Given the description of an element on the screen output the (x, y) to click on. 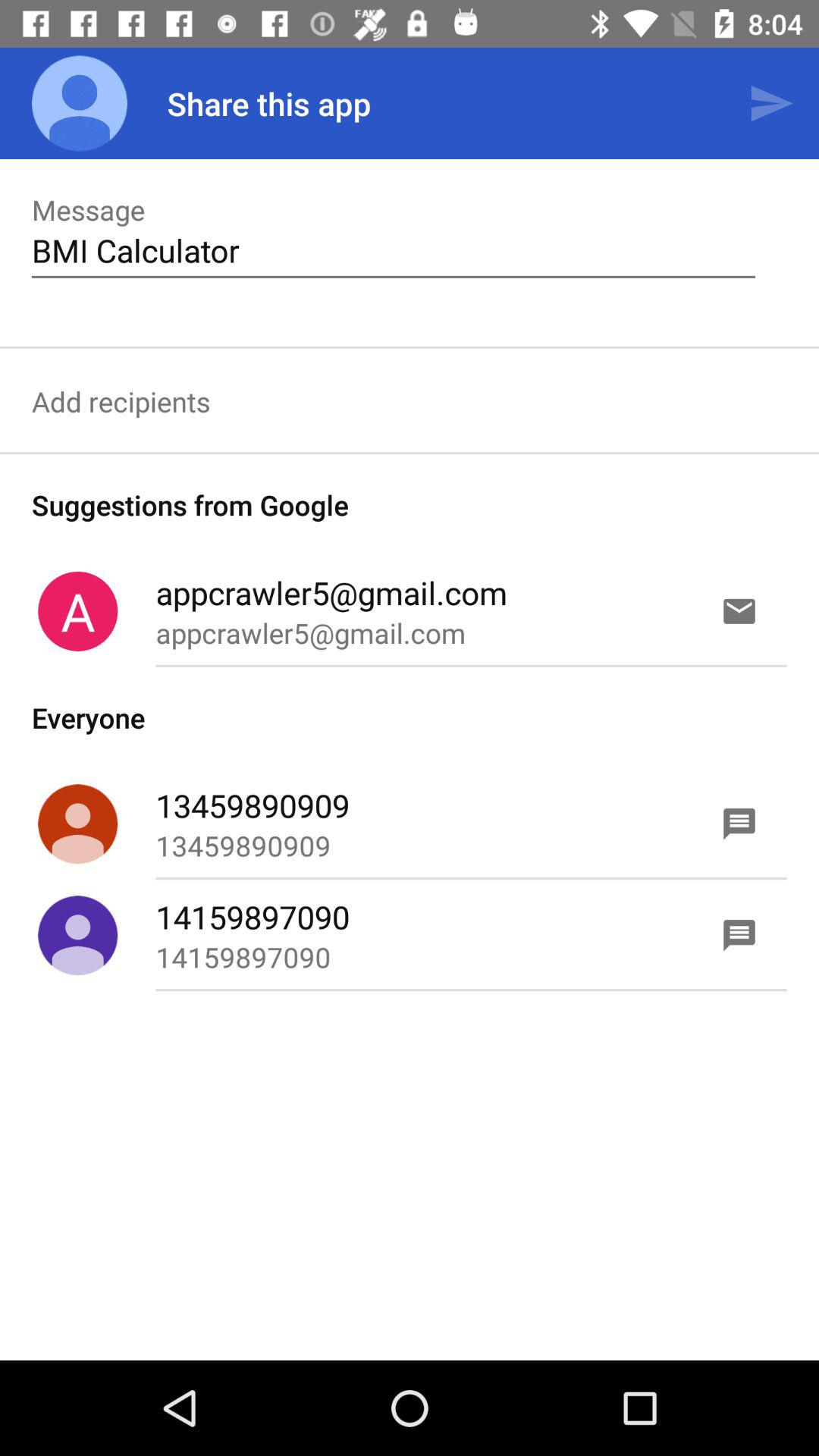
contact icon below everyone (77, 823)
select the send button (771, 103)
click on the last profile photo (77, 935)
click text below message (393, 250)
